Given the description of an element on the screen output the (x, y) to click on. 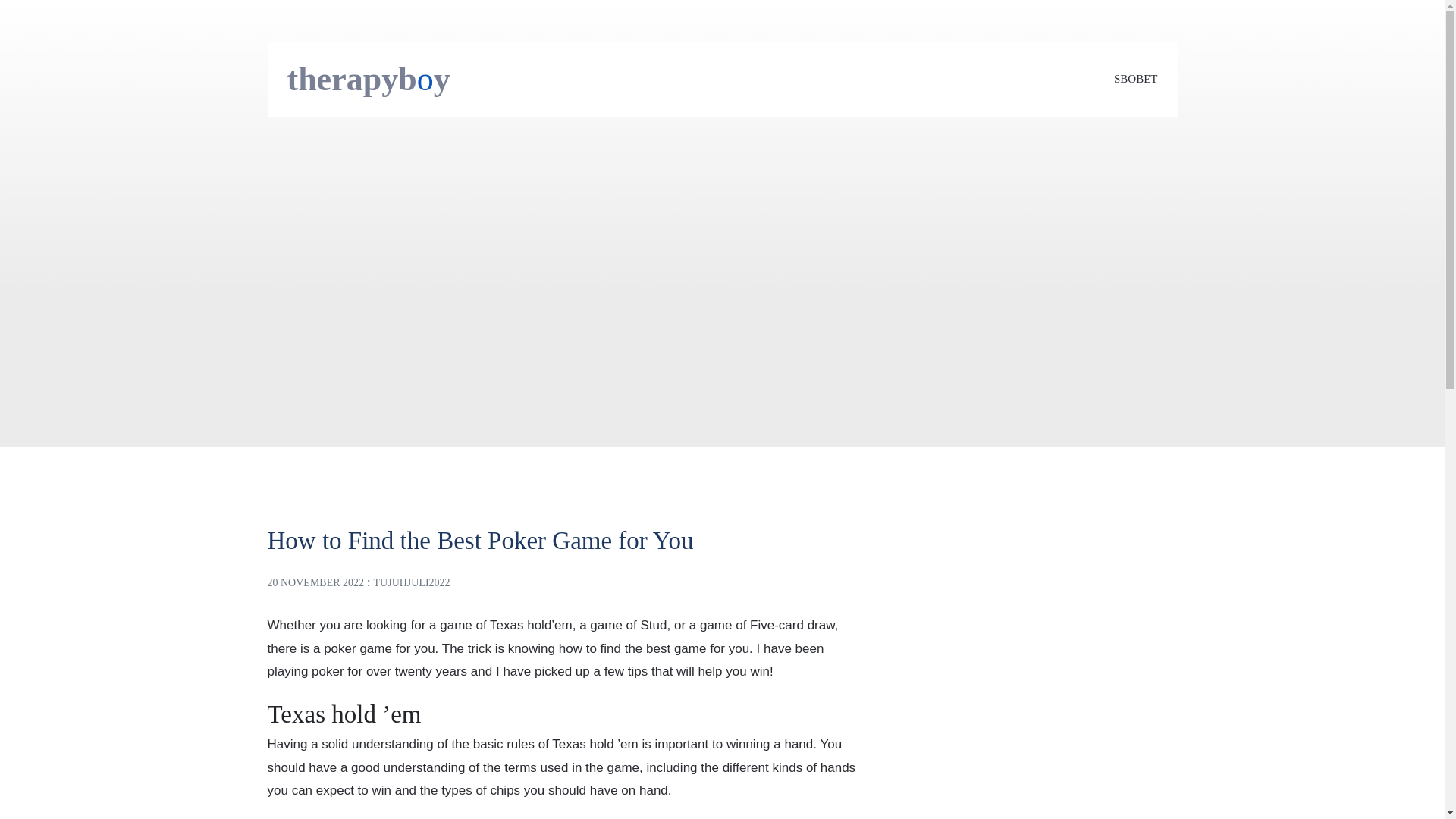
SBOBET (1135, 78)
TUJUHJULI2022 (411, 582)
20 NOVEMBER 2022 (315, 582)
therapyboy (367, 78)
